Given the description of an element on the screen output the (x, y) to click on. 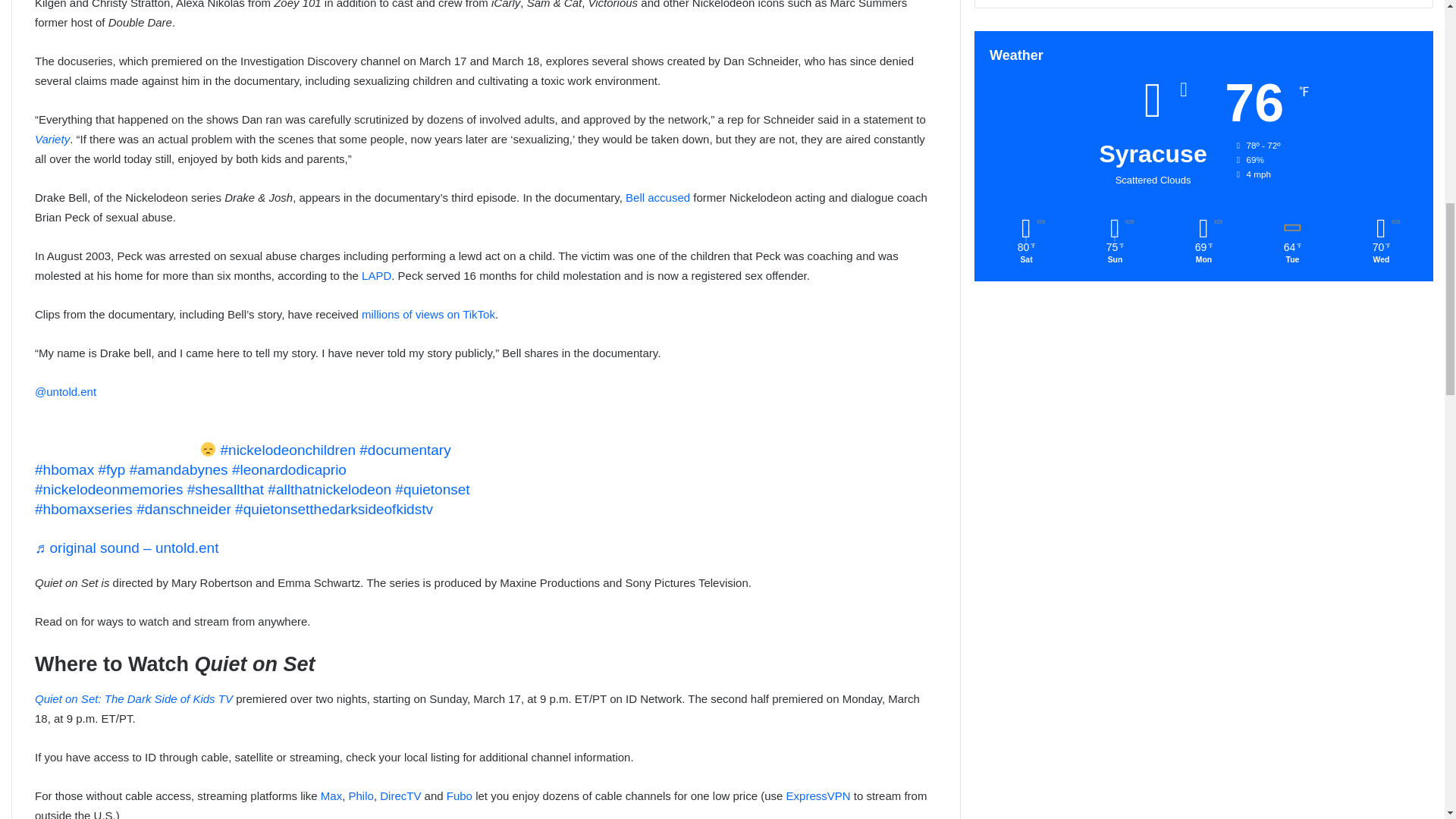
fyp (111, 469)
hbomax (64, 469)
nickelodeonchildren (287, 449)
documentary (404, 449)
